Given the description of an element on the screen output the (x, y) to click on. 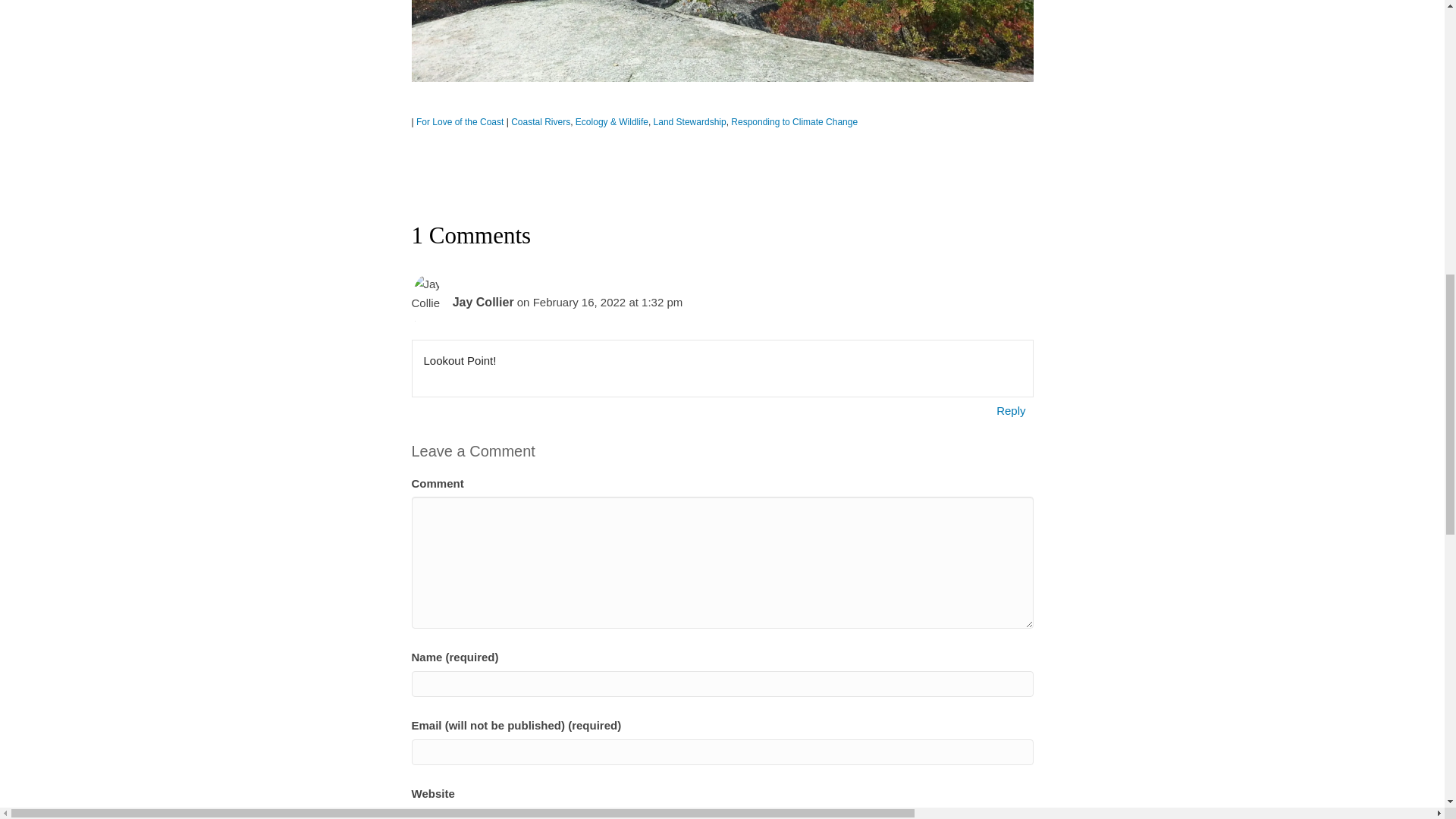
Reply (1010, 410)
For Love of the Coast (459, 122)
Responding to Climate Change (793, 122)
Land Stewardship (689, 122)
Coastal Rivers (540, 122)
